Given the description of an element on the screen output the (x, y) to click on. 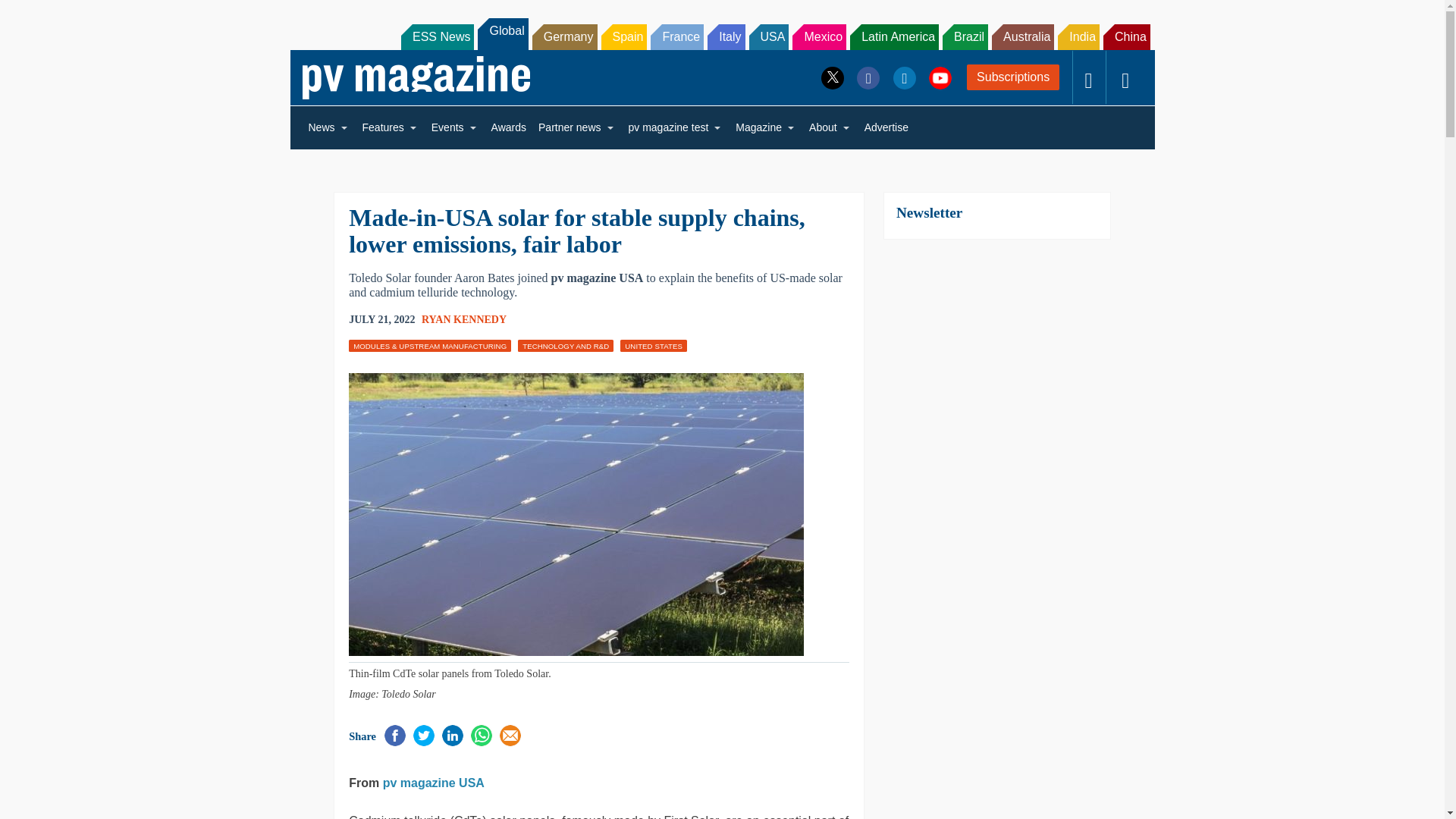
France (676, 36)
pv magazine - Photovoltaics Markets and Technology (415, 77)
USA (769, 36)
Australia (1022, 36)
Italy (725, 36)
Mexico (818, 36)
Brazil (965, 36)
ESS News (437, 36)
Germany (564, 36)
Global (502, 33)
